Given the description of an element on the screen output the (x, y) to click on. 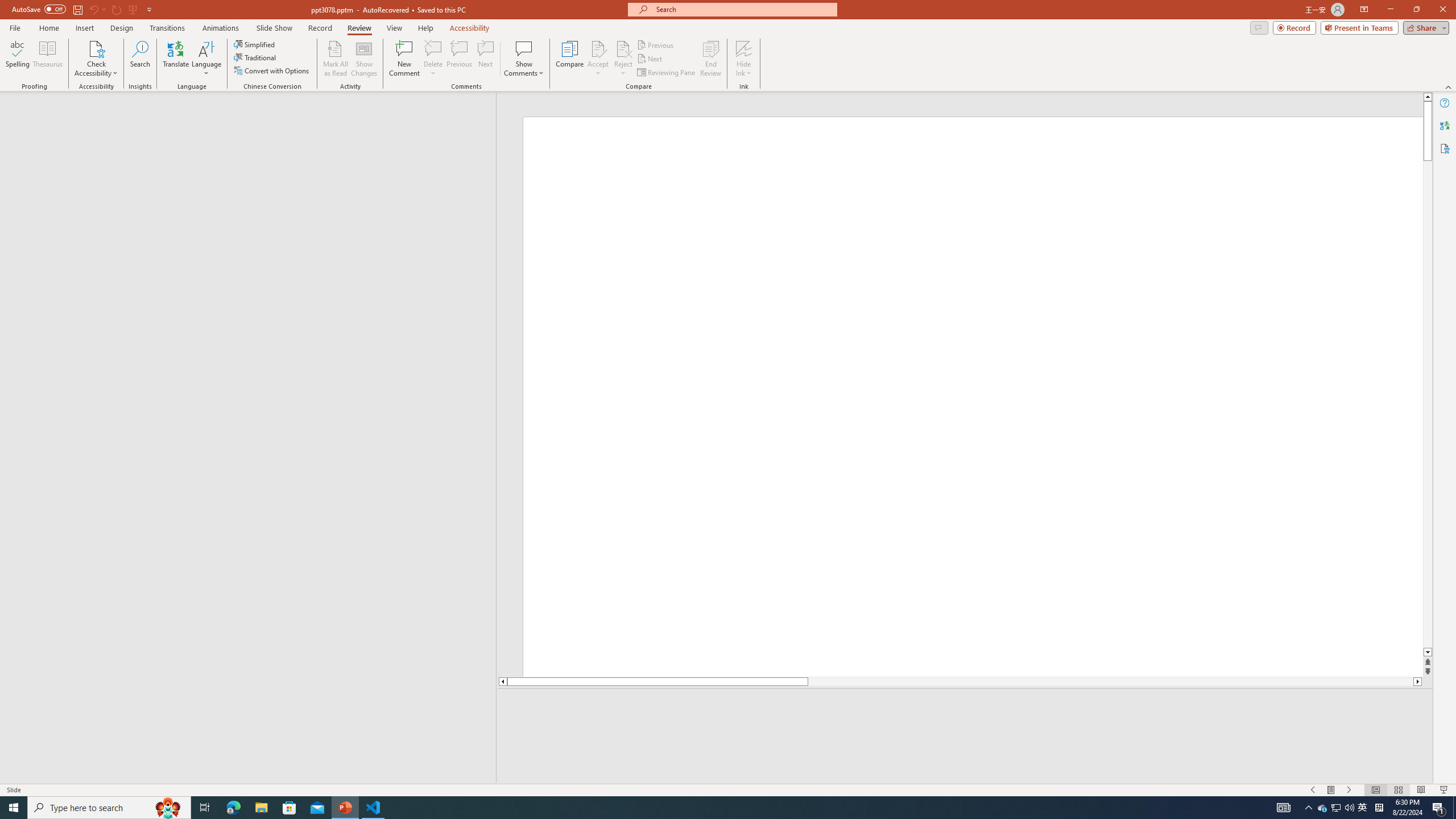
Traditional (255, 56)
Mark All as Read (335, 58)
Language (206, 58)
Compare (569, 58)
Slide Show Next On (1349, 790)
